Given the description of an element on the screen output the (x, y) to click on. 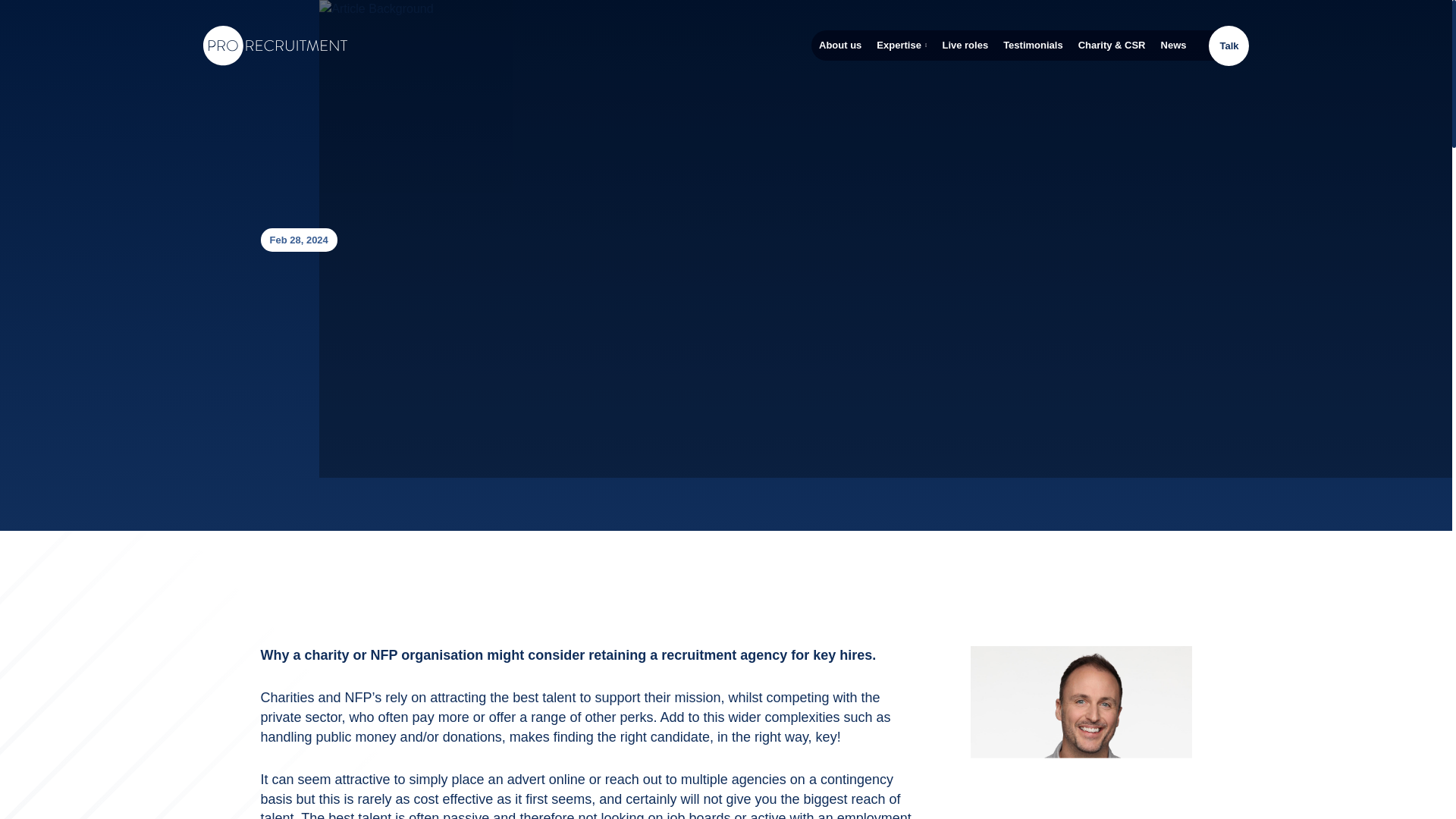
News (1173, 45)
About us (839, 45)
Talk (1228, 45)
Testimonials (1032, 45)
Live roles (964, 45)
